Given the description of an element on the screen output the (x, y) to click on. 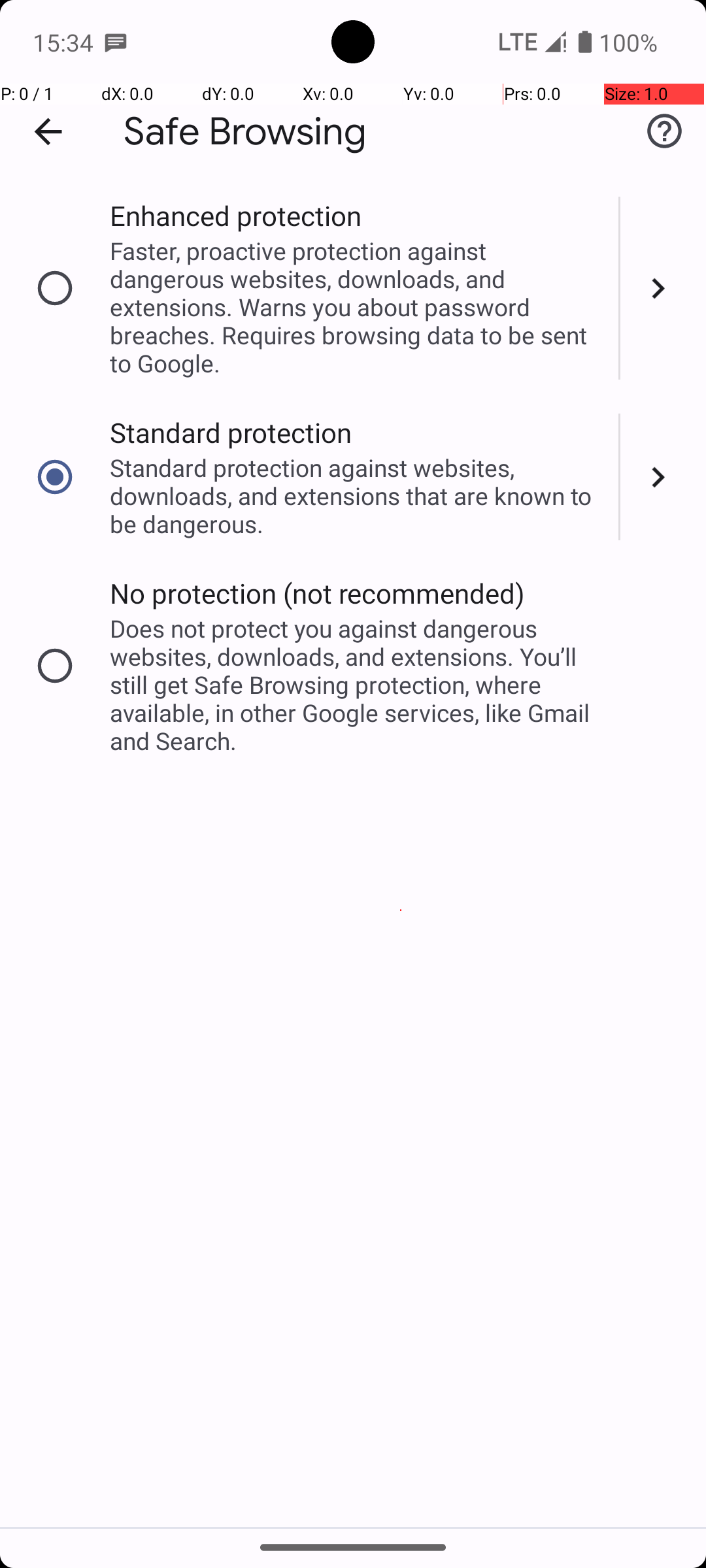
Safe Browsing Element type: android.widget.TextView (244, 131)
Enhanced protection Element type: android.widget.TextView (235, 214)
Faster, proactive protection against dangerous websites, downloads, and extensions. Warns you about password breaches. Requires browsing data to be sent to Google. Element type: android.widget.TextView (355, 306)
Standard protection Element type: android.widget.TextView (230, 431)
Standard protection against websites, downloads, and extensions that are known to be dangerous. Element type: android.widget.TextView (355, 495)
No protection (not recommended) Element type: android.widget.TextView (317, 592)
Does not protect you against dangerous websites, downloads, and extensions. You’ll still get Safe Browsing protection, where available, in other Google services, like Gmail and Search. Element type: android.widget.TextView (355, 684)
